Given the description of an element on the screen output the (x, y) to click on. 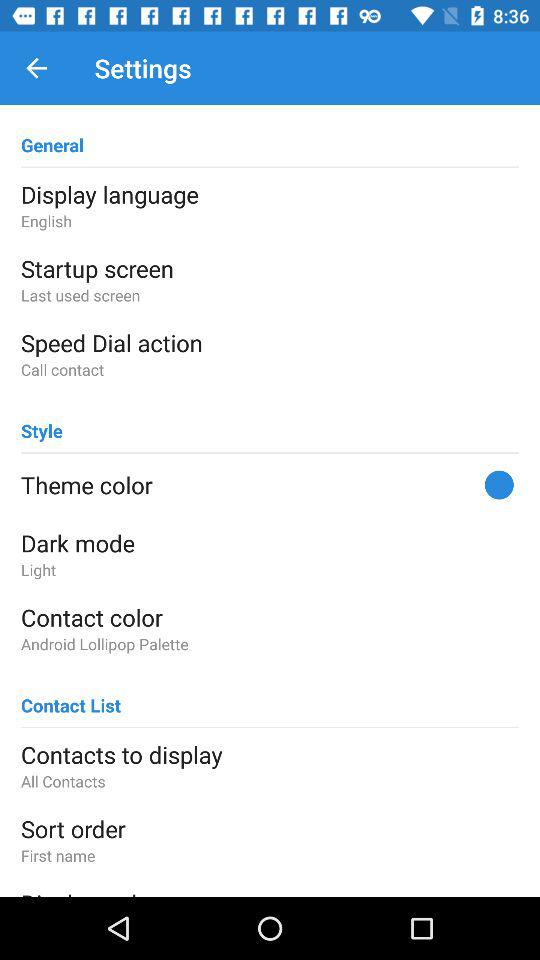
press the icon above sort order (270, 780)
